Given the description of an element on the screen output the (x, y) to click on. 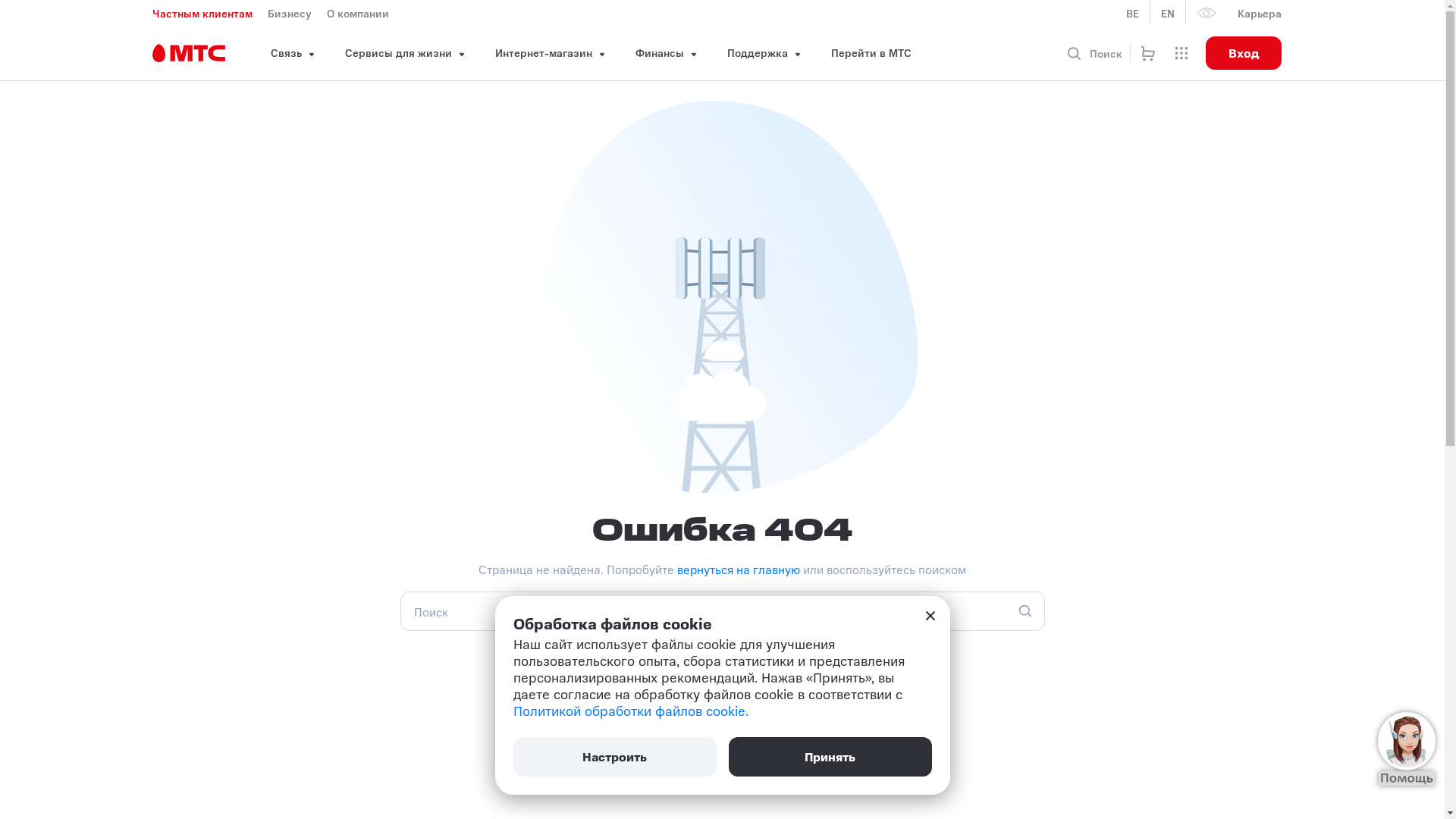
BE Element type: text (1132, 12)
EN Element type: text (1168, 12)
